Given the description of an element on the screen output the (x, y) to click on. 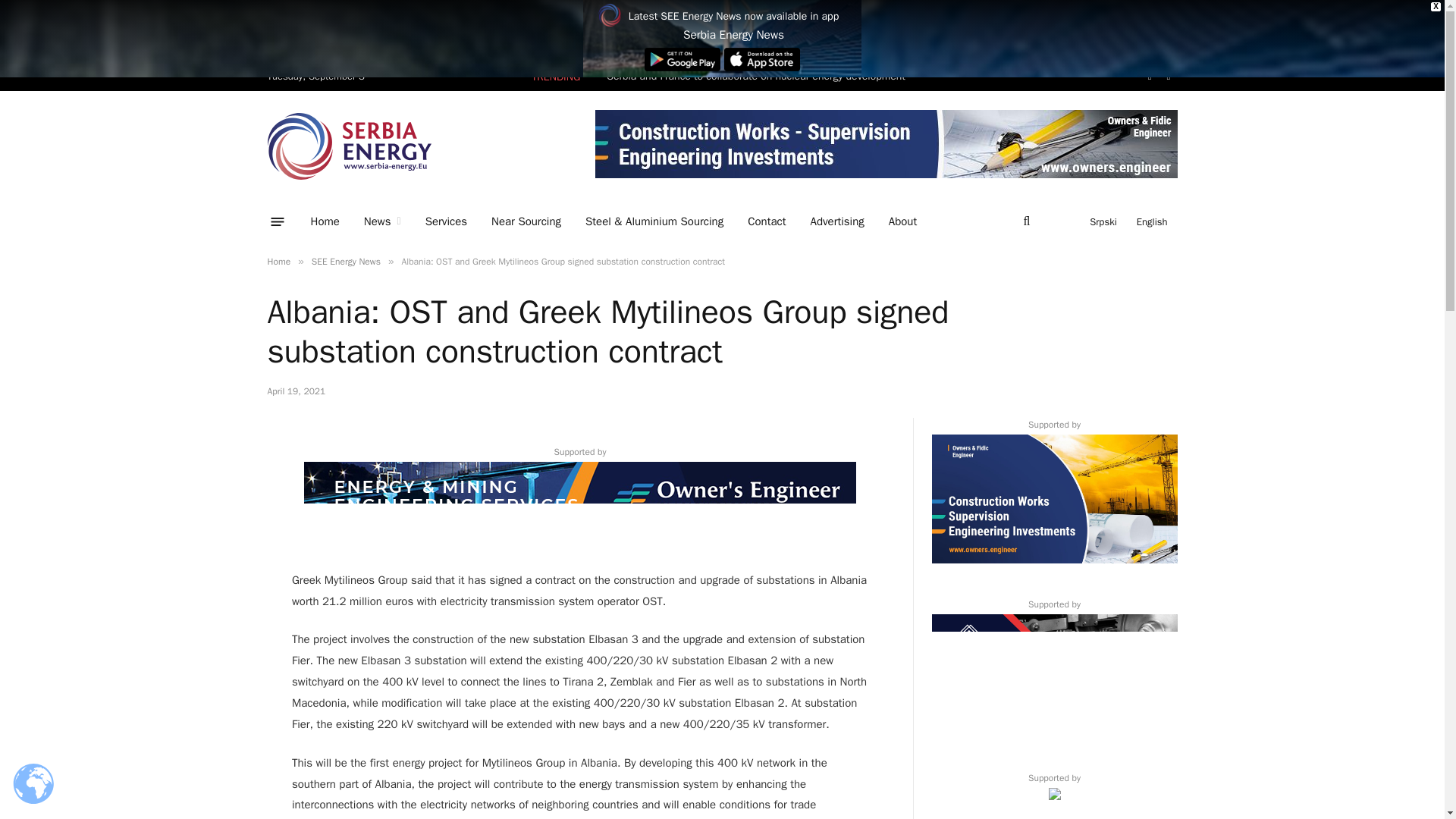
Home (325, 220)
News (382, 220)
Advertising (836, 220)
Contact (766, 220)
Services (446, 220)
Serbia SEE Energy Mining News (348, 146)
About (902, 220)
Near Sourcing (526, 220)
